Given the description of an element on the screen output the (x, y) to click on. 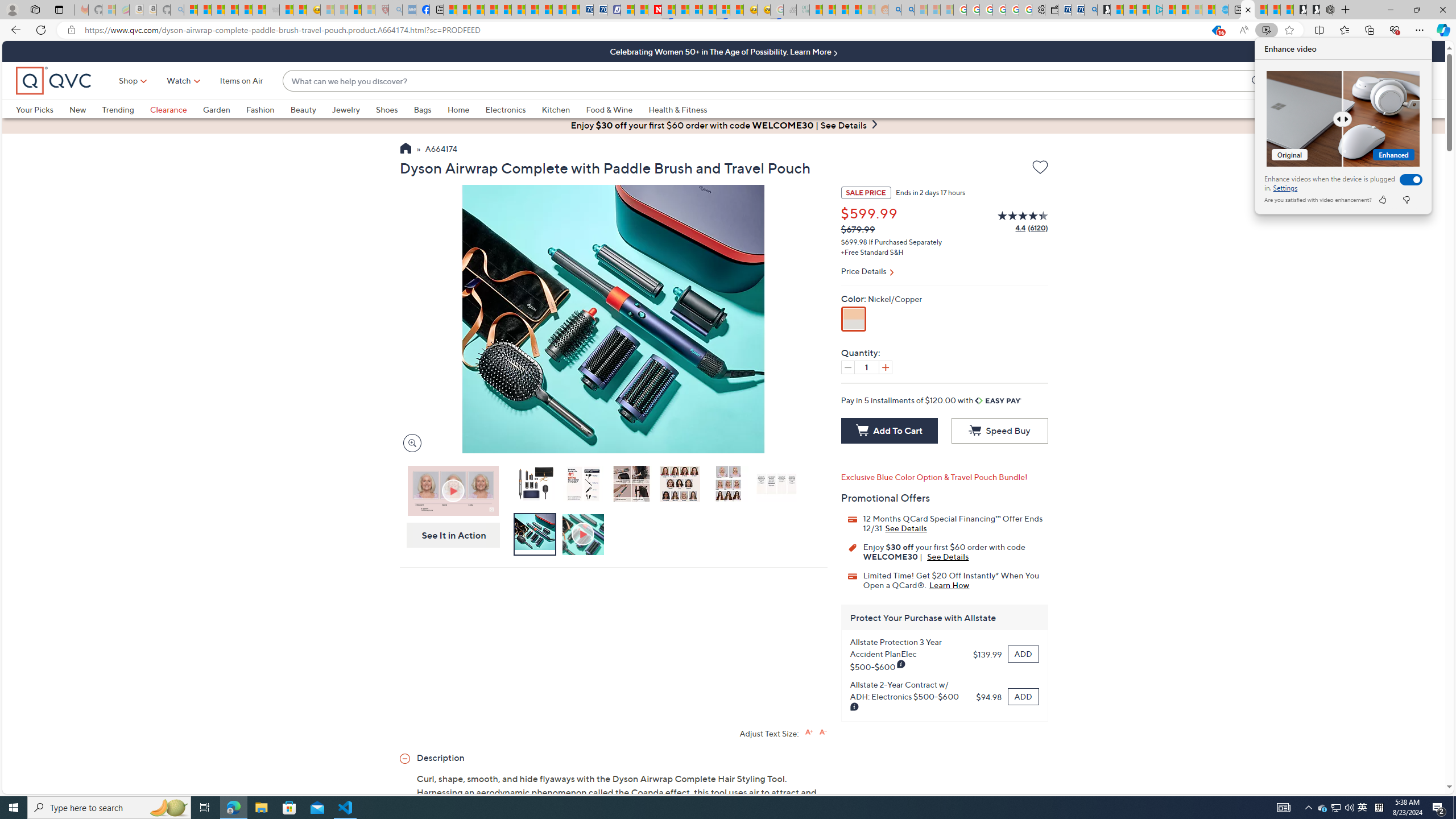
Show desktop (1454, 807)
Electronics (504, 109)
Your Picks (1362, 807)
SALE PRICE (34, 109)
Comparision (865, 192)
Like (1342, 118)
Microsoft Store (1382, 199)
Combat Siege - Sleeping (289, 807)
Easy Pay (271, 9)
